Given the description of an element on the screen output the (x, y) to click on. 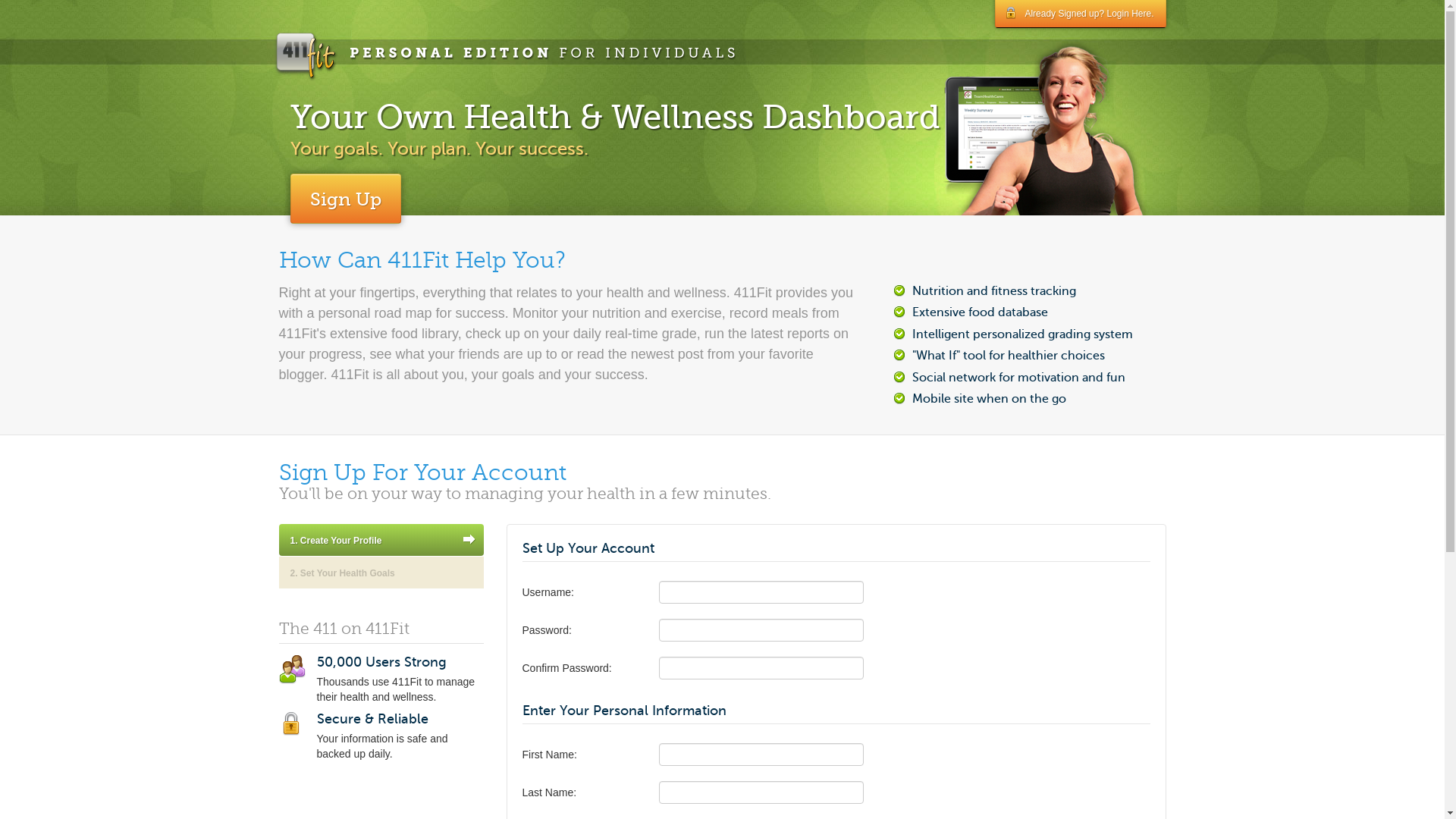
411Fit: Personal Edition for Individuals Element type: hover (505, 54)
Sign Up Element type: text (344, 198)
